Given the description of an element on the screen output the (x, y) to click on. 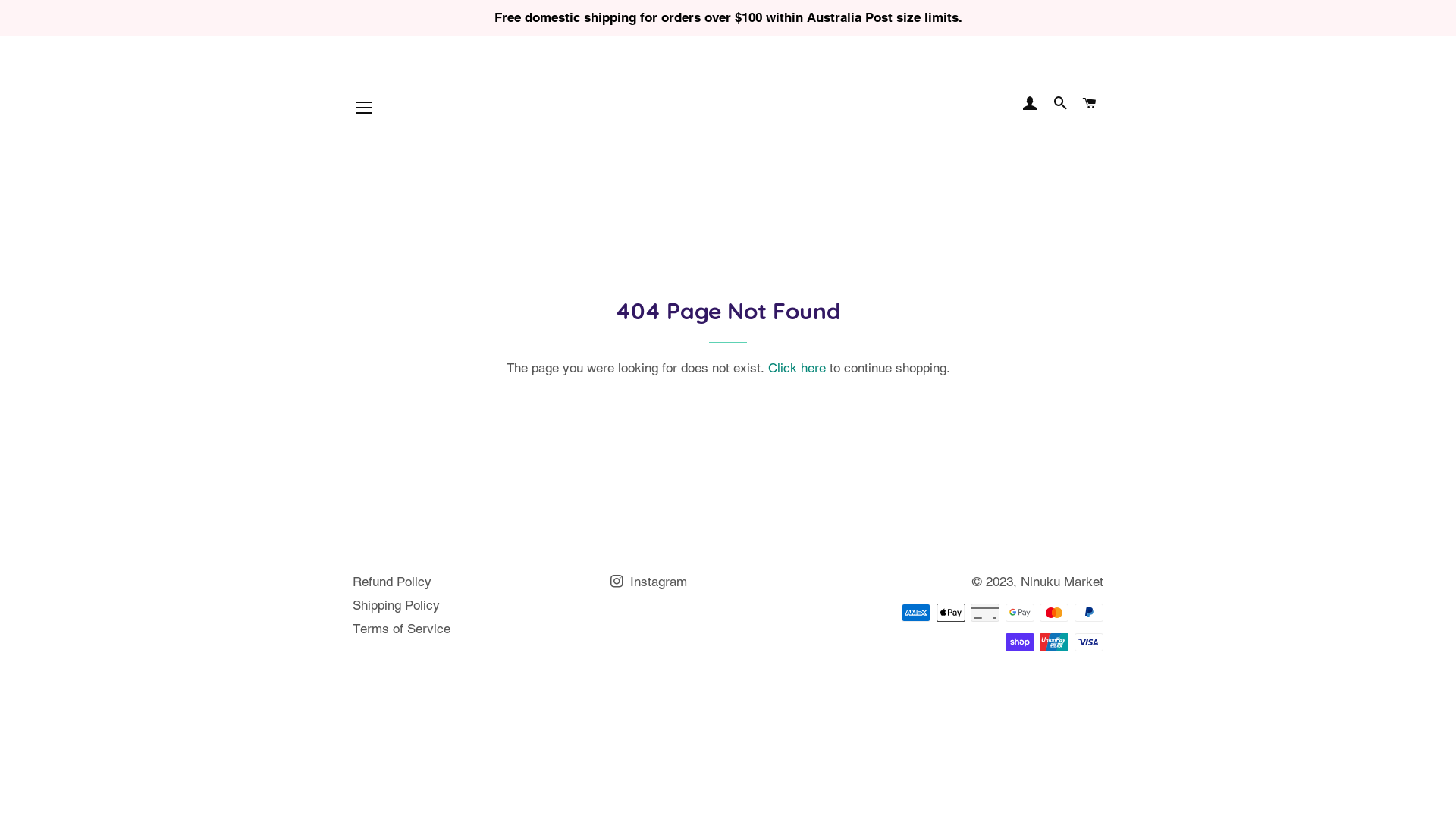
LOG IN Element type: text (1030, 103)
Shipping Policy Element type: text (395, 604)
Ninuku Market Element type: text (1061, 581)
Click here Element type: text (796, 367)
SEARCH Element type: text (1060, 103)
Refund Policy Element type: text (391, 581)
Terms of Service Element type: text (401, 628)
CART Element type: text (1090, 103)
Instagram Element type: text (648, 581)
SITE NAVIGATION Element type: text (363, 107)
